Given the description of an element on the screen output the (x, y) to click on. 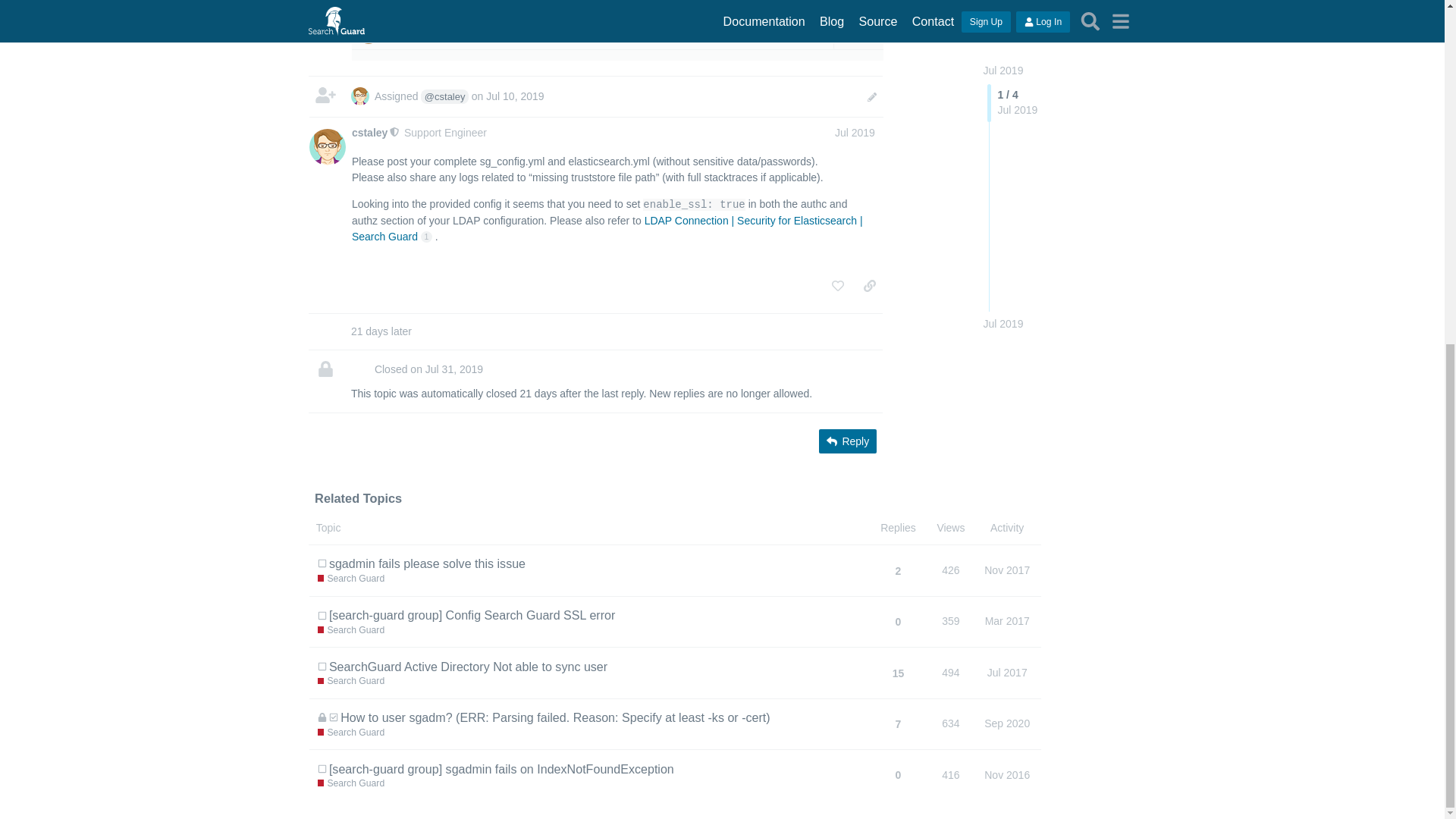
Jul 2019 (854, 132)
cstaley (369, 133)
last reply (471, 16)
